Given the description of an element on the screen output the (x, y) to click on. 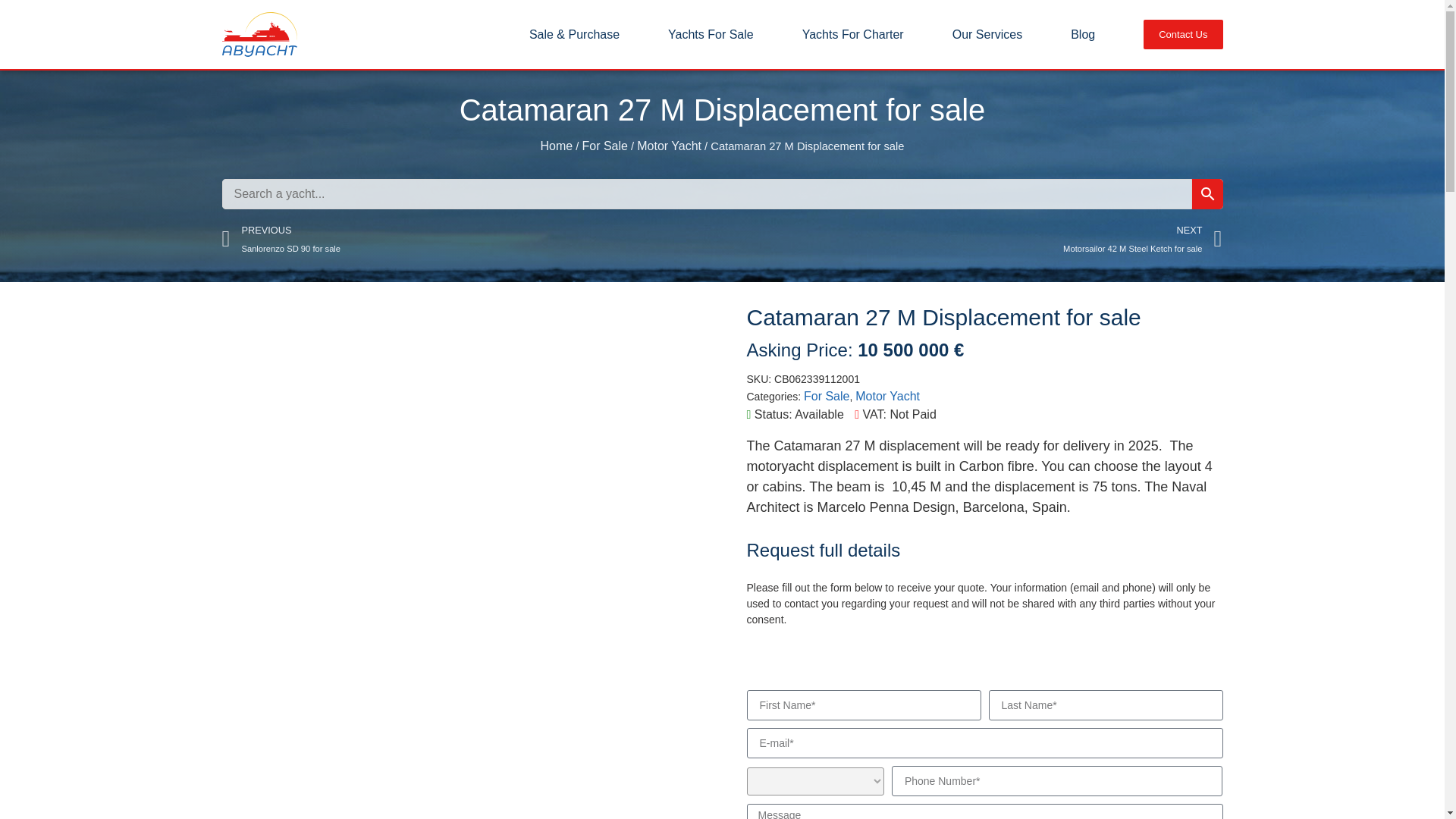
Yachts For Charter (853, 35)
Contact Us (1182, 34)
Home (556, 145)
For Sale (972, 239)
Blog (603, 145)
Motor Yacht (1082, 35)
Yachts For Sale (888, 395)
Our Services (471, 239)
